Given the description of an element on the screen output the (x, y) to click on. 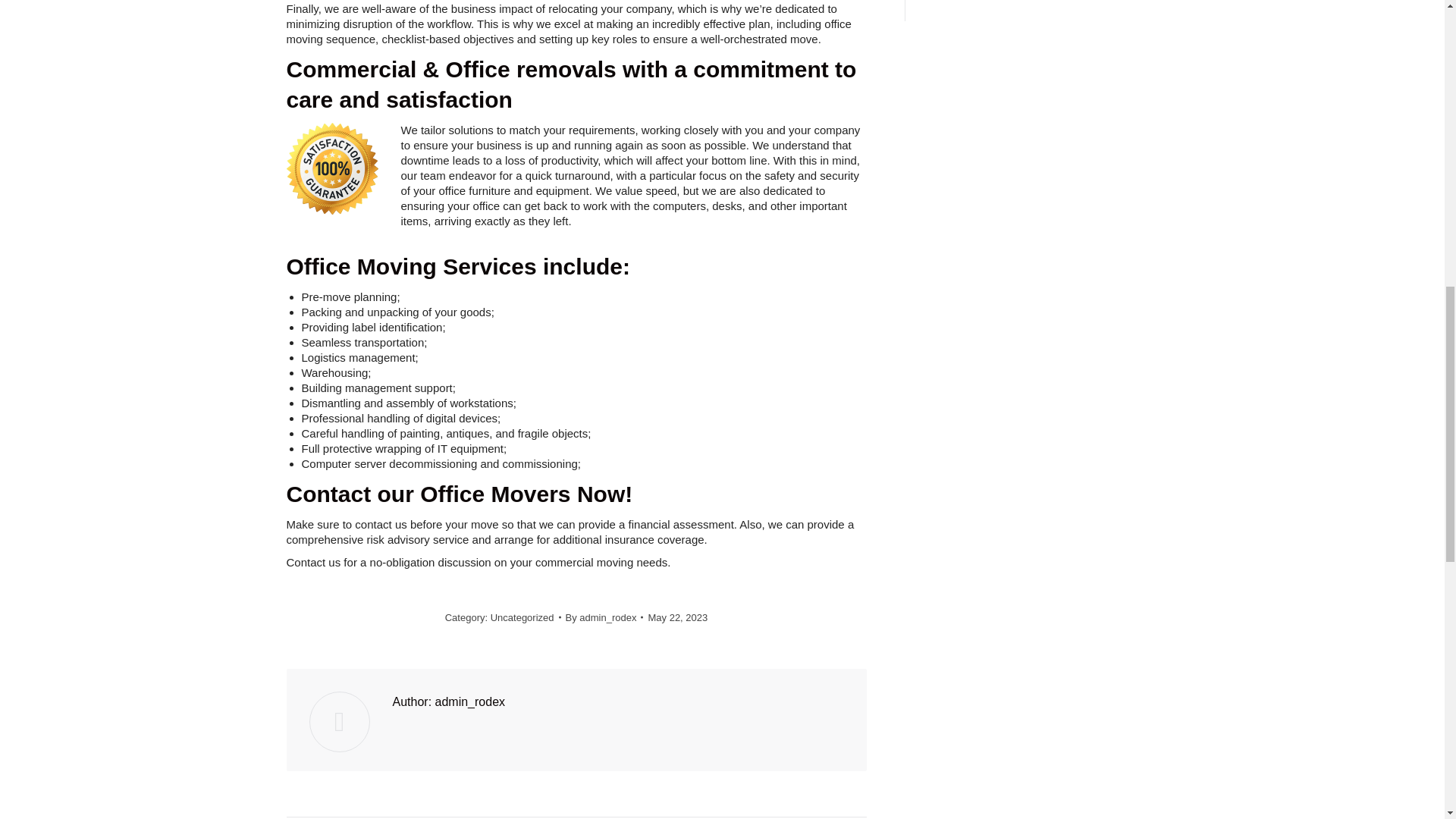
5:55 pm (677, 617)
Uncategorized (522, 617)
